Given the description of an element on the screen output the (x, y) to click on. 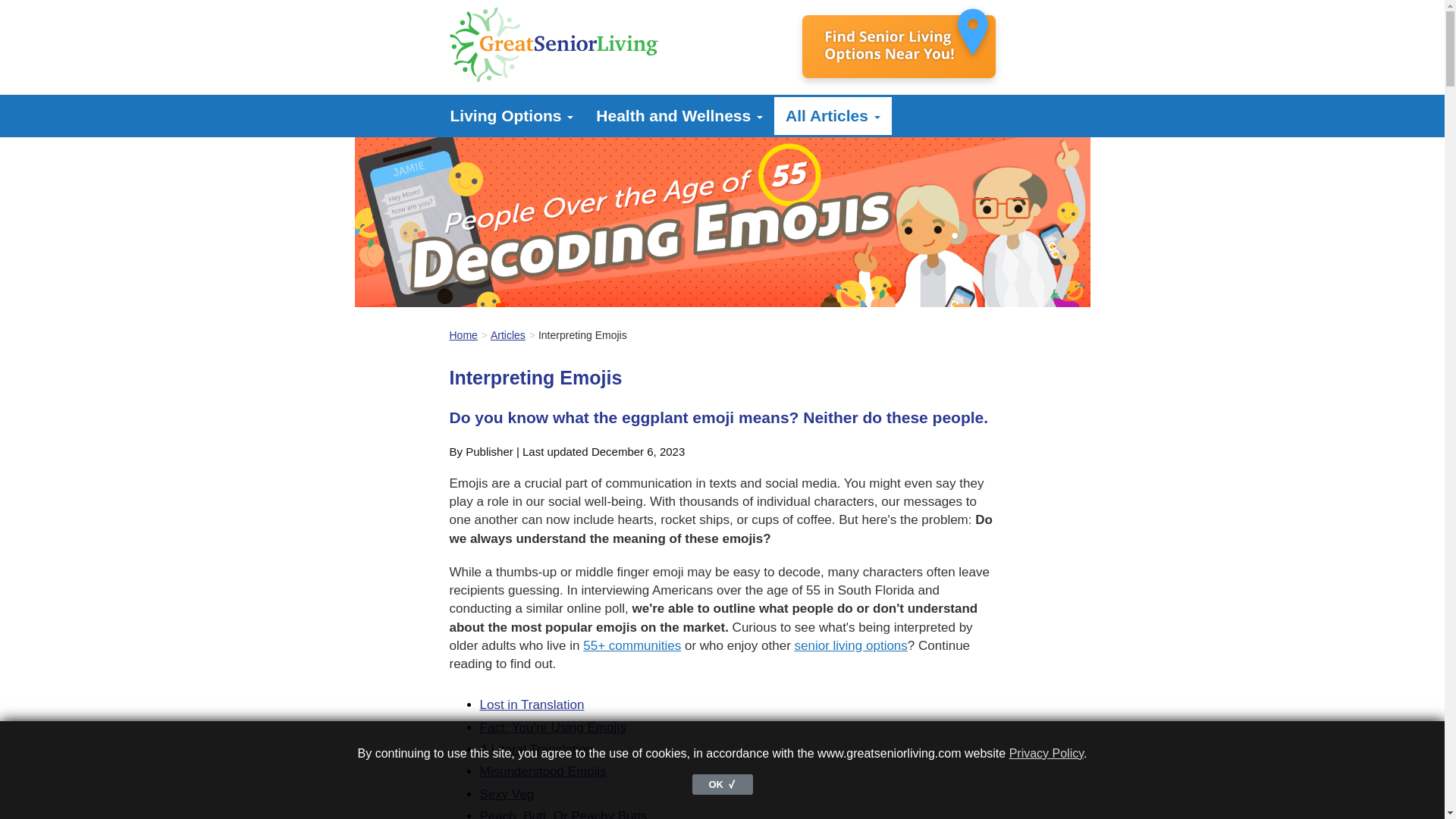
All Articles (832, 116)
Living Options (511, 116)
Health and Wellness (679, 116)
December 6, 2023 (637, 451)
